Given the description of an element on the screen output the (x, y) to click on. 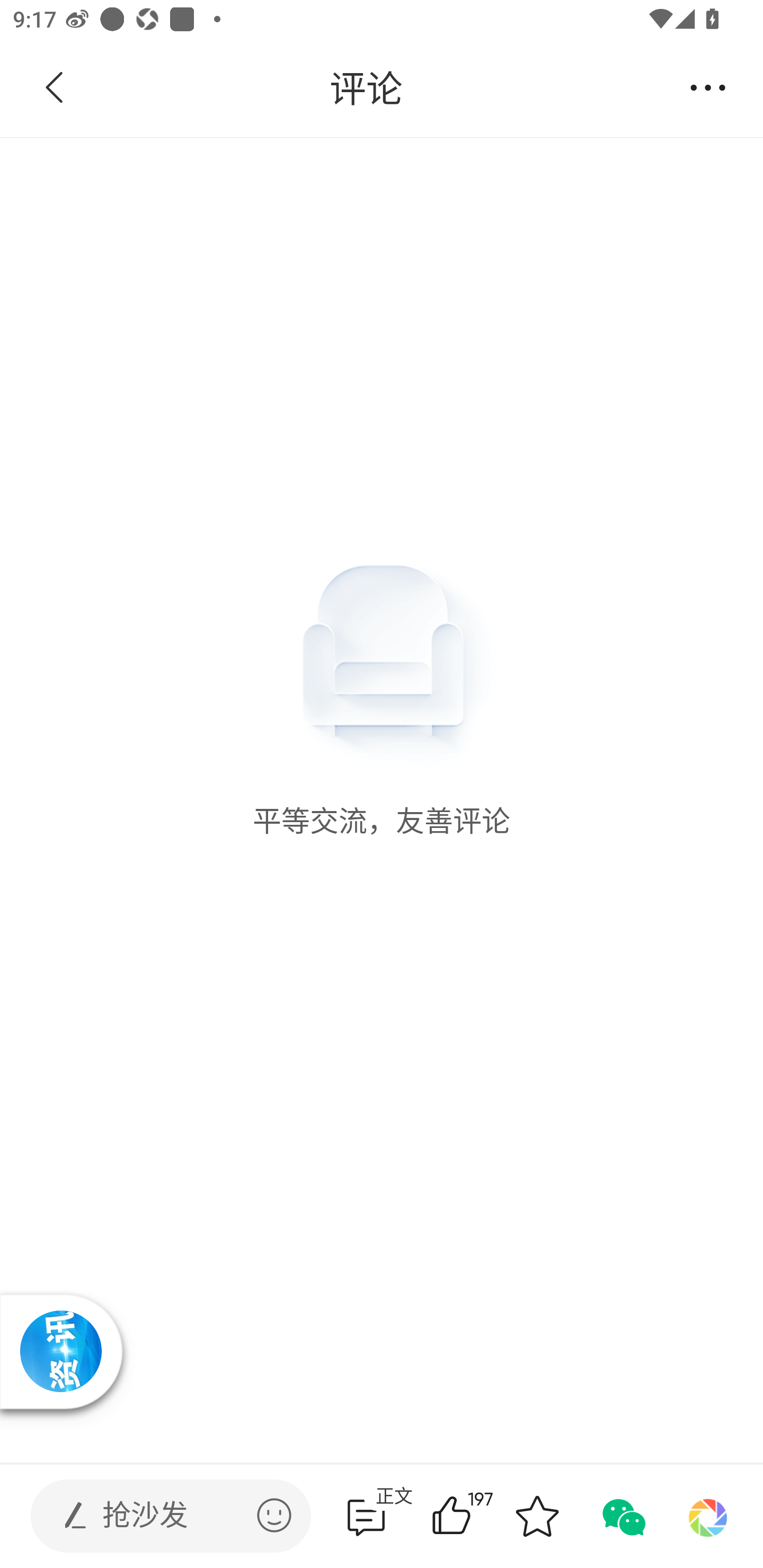
评论 (365, 87)
分享  (707, 87)
 返回 (54, 87)
平等交流，友善评论 (381, 487)
播放器 (60, 1351)
发表评论  抢沙发 发表评论  (155, 1516)
抢评论  抢 评论 (365, 1516)
197赞 (476, 1516)
收藏  (536, 1516)
分享到微信  (622, 1516)
分享到朋友圈 (707, 1516)
 (274, 1515)
